Given the description of an element on the screen output the (x, y) to click on. 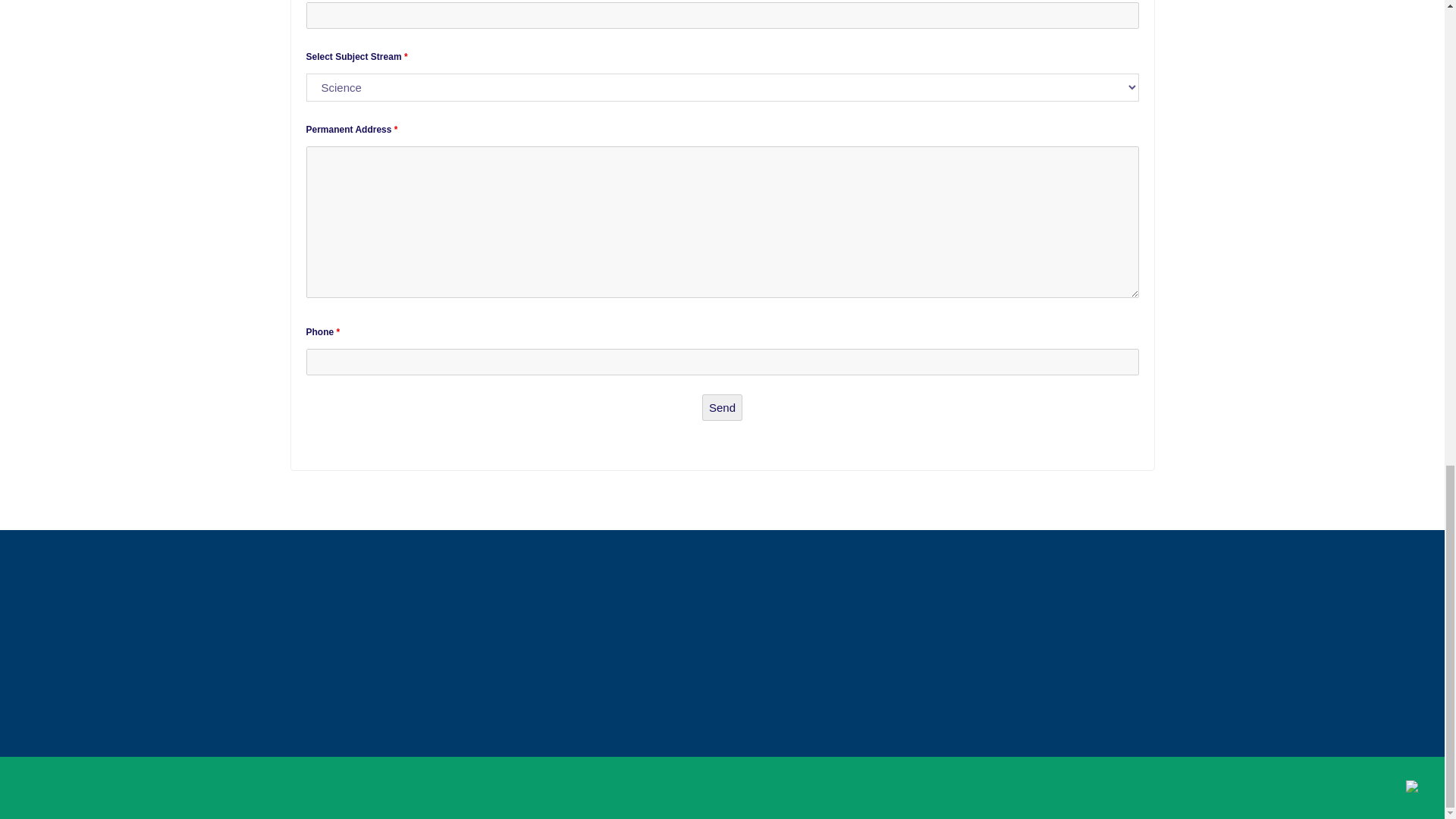
Send (721, 406)
